Given the description of an element on the screen output the (x, y) to click on. 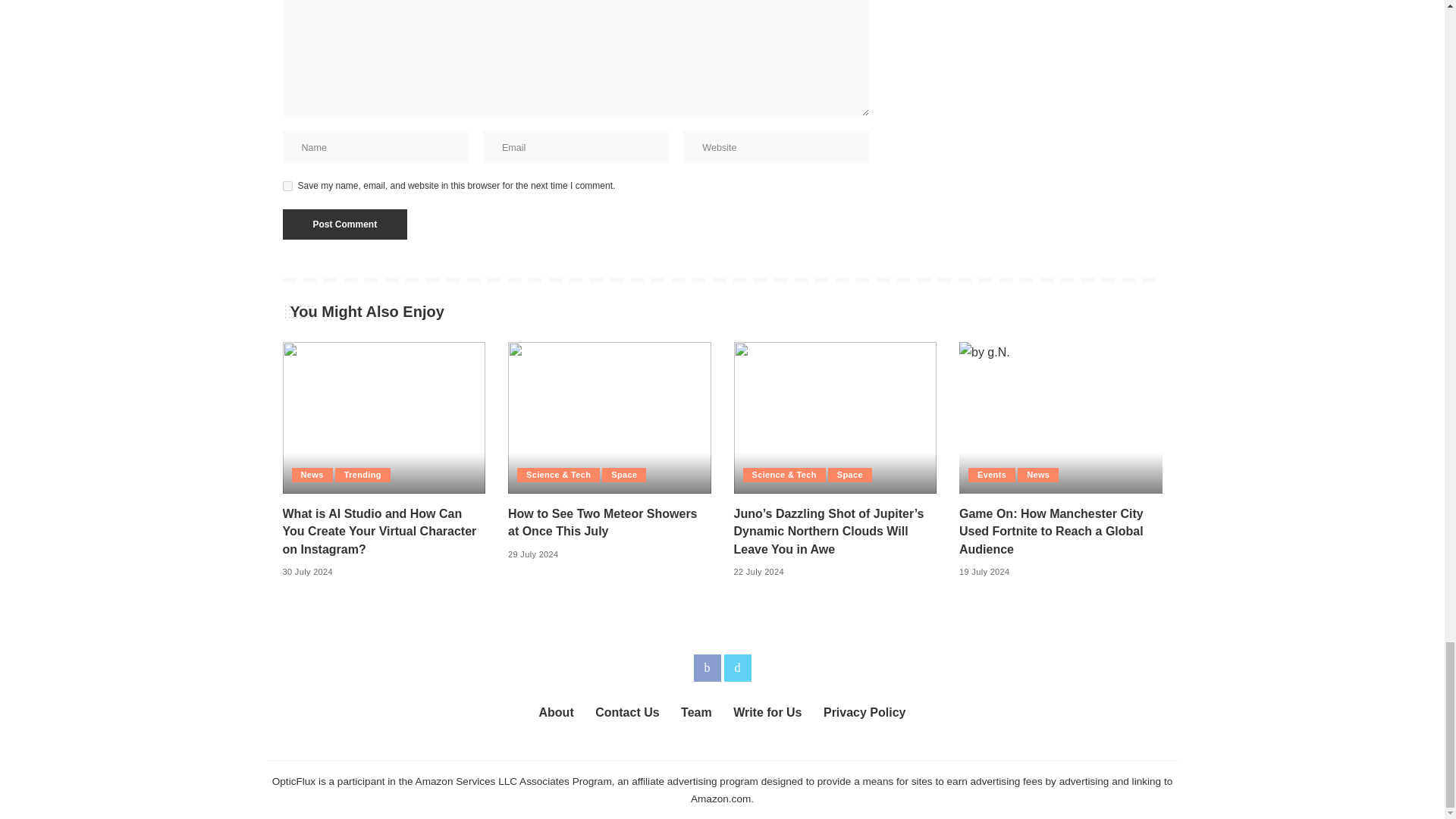
Post Comment (344, 224)
yes (287, 185)
